Given the description of an element on the screen output the (x, y) to click on. 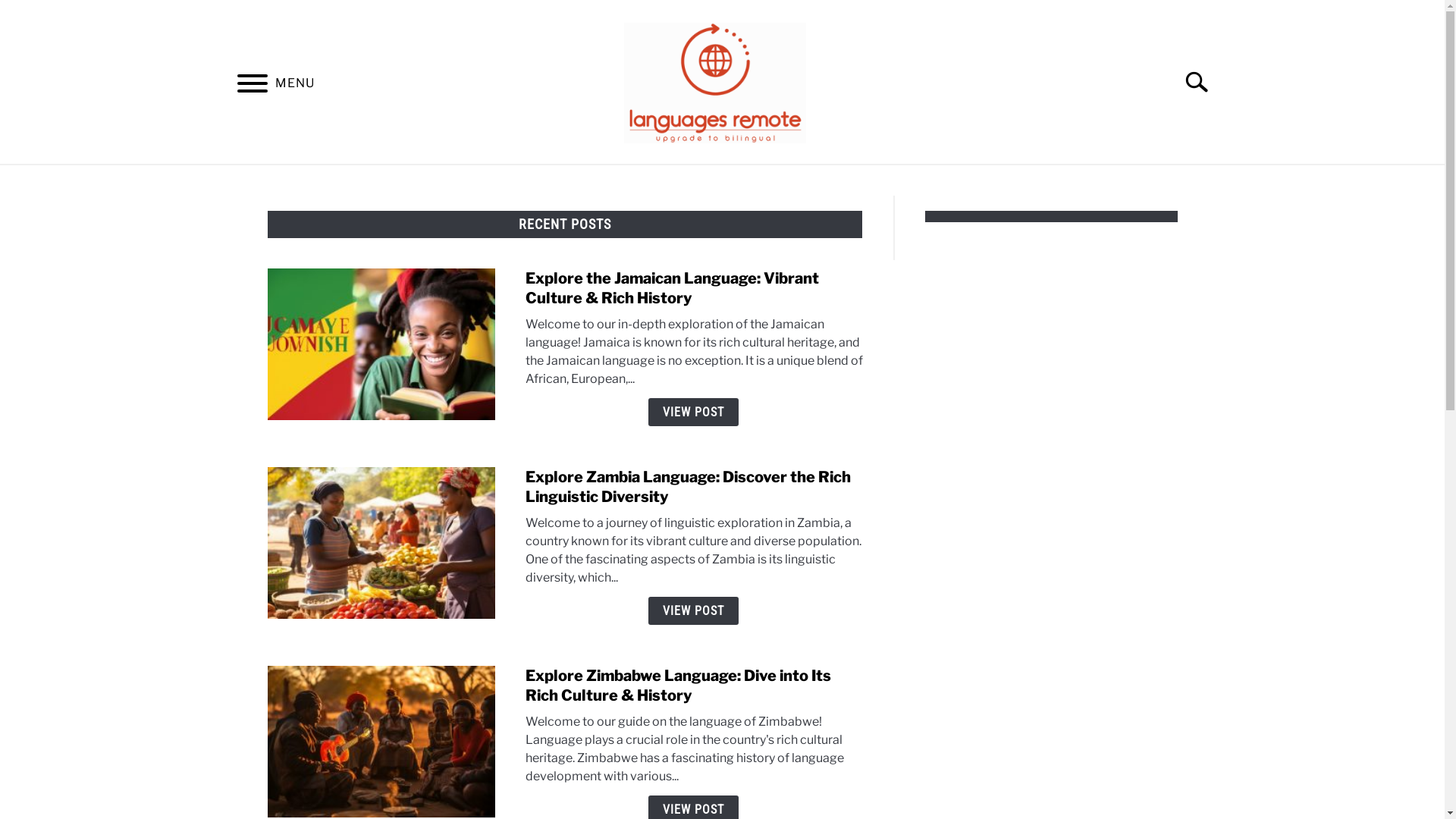
VIEW POST Element type: text (693, 610)
Search Element type: text (1203, 81)
VIEW POST Element type: text (693, 412)
MENU Element type: text (251, 85)
